Given the description of an element on the screen output the (x, y) to click on. 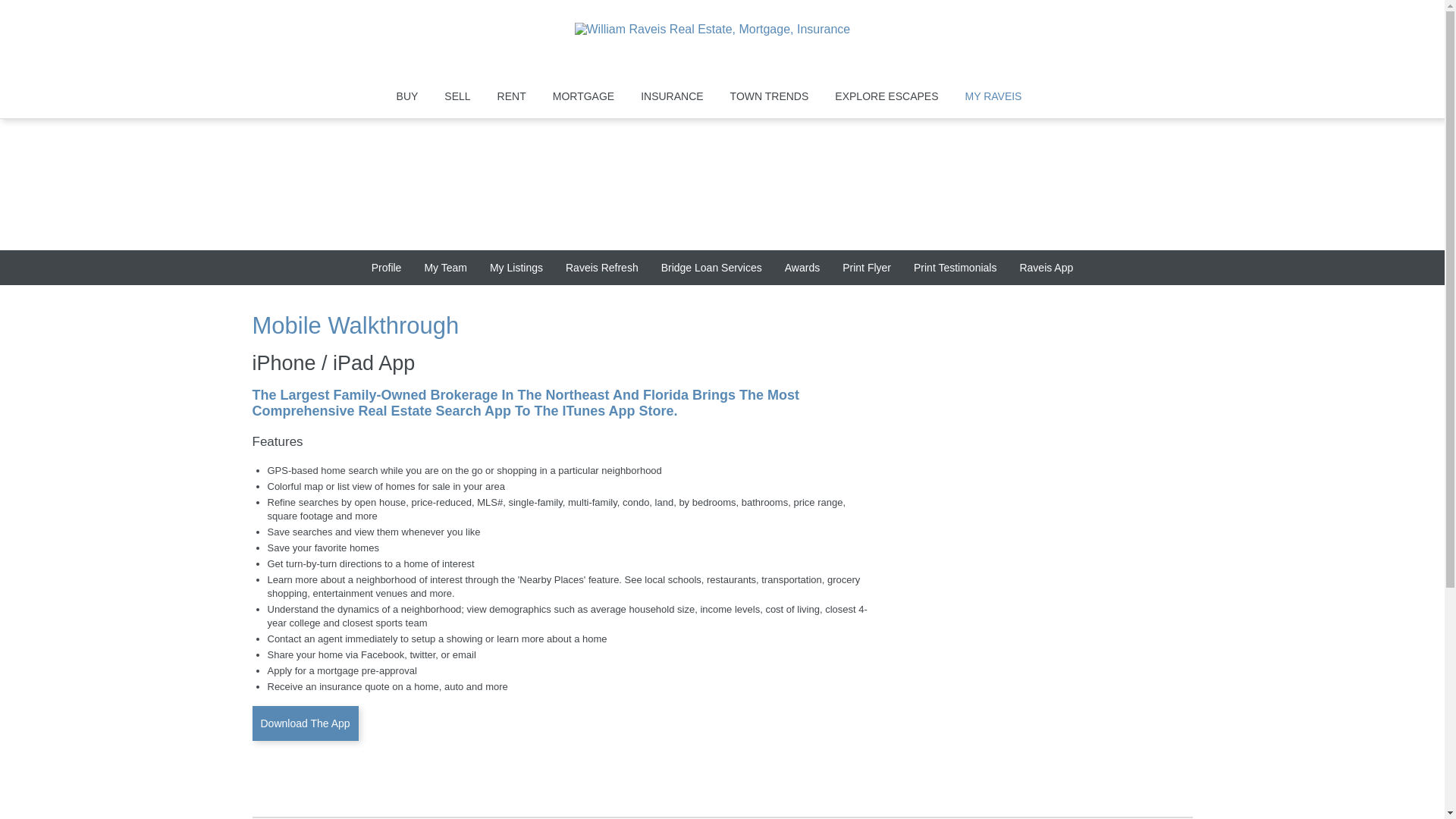
MY RAVEIS (992, 97)
BUY (407, 97)
RENT (511, 97)
SELL (456, 97)
William Raveis Real Estate, Mortgage, Insurance (722, 44)
